Given the description of an element on the screen output the (x, y) to click on. 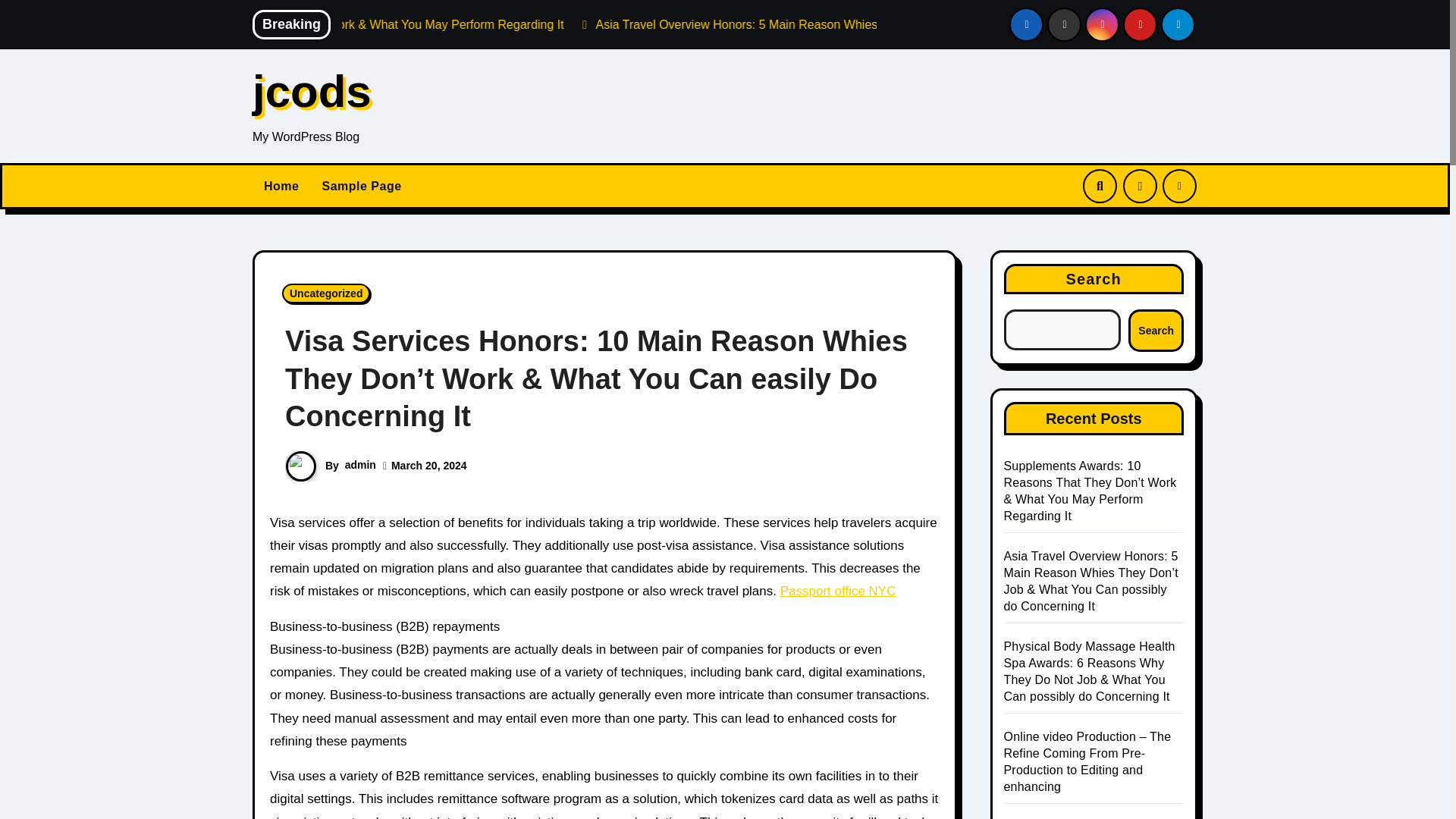
Sample Page (361, 187)
jcods (311, 91)
March 20, 2024 (429, 465)
Passport office NYC (838, 590)
admin (360, 464)
Home (280, 187)
Home (280, 187)
Uncategorized (325, 293)
